Given the description of an element on the screen output the (x, y) to click on. 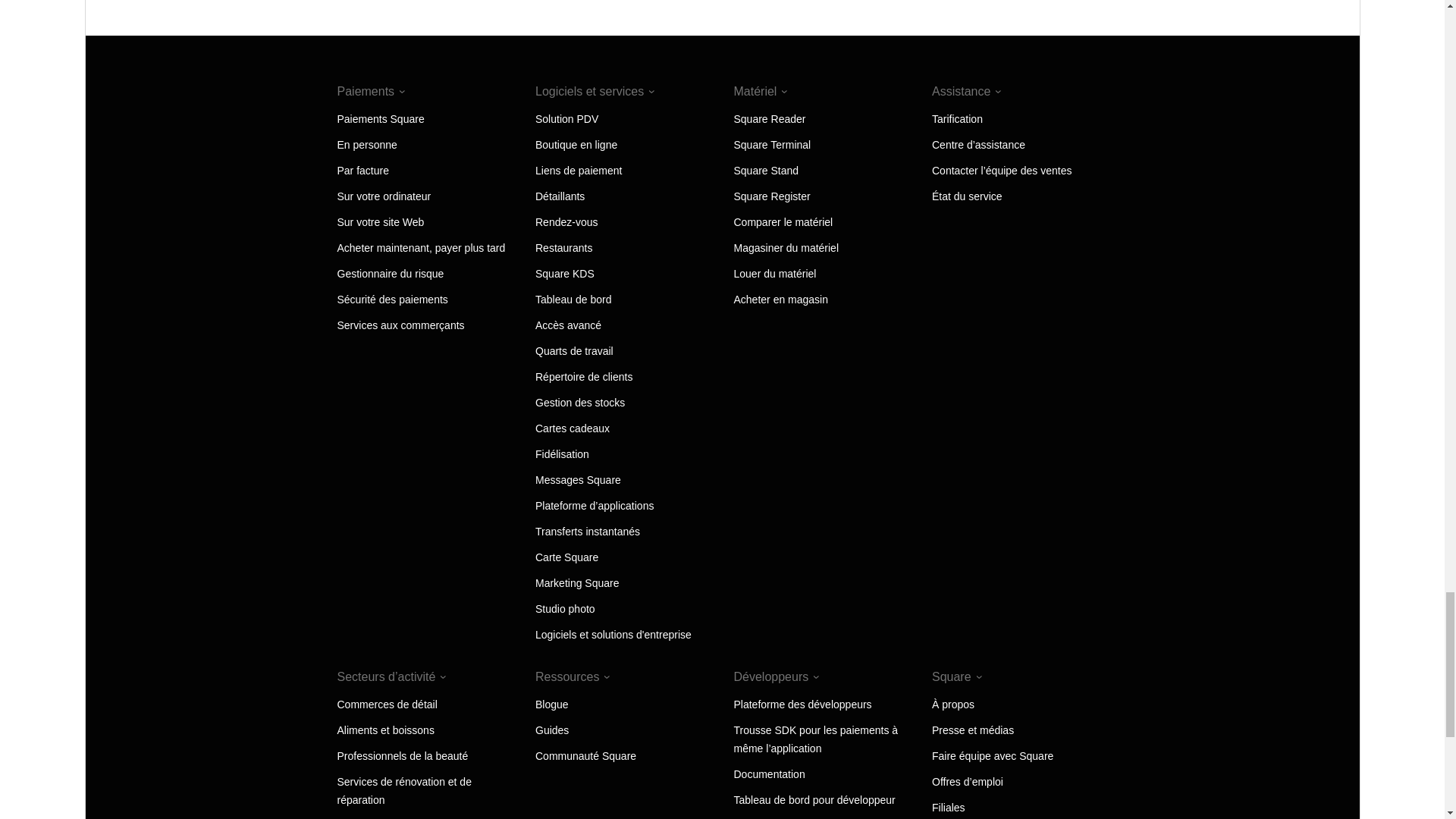
Par facture (362, 170)
Restaurants (563, 247)
Cartes cadeaux (572, 428)
Acheter maintenant, payer plus tard (420, 247)
Messages Square (578, 480)
Paiements (370, 91)
Sur votre ordinateur (383, 196)
Rendez-vous (566, 222)
Solution PDV (566, 119)
En personne (366, 144)
